Given the description of an element on the screen output the (x, y) to click on. 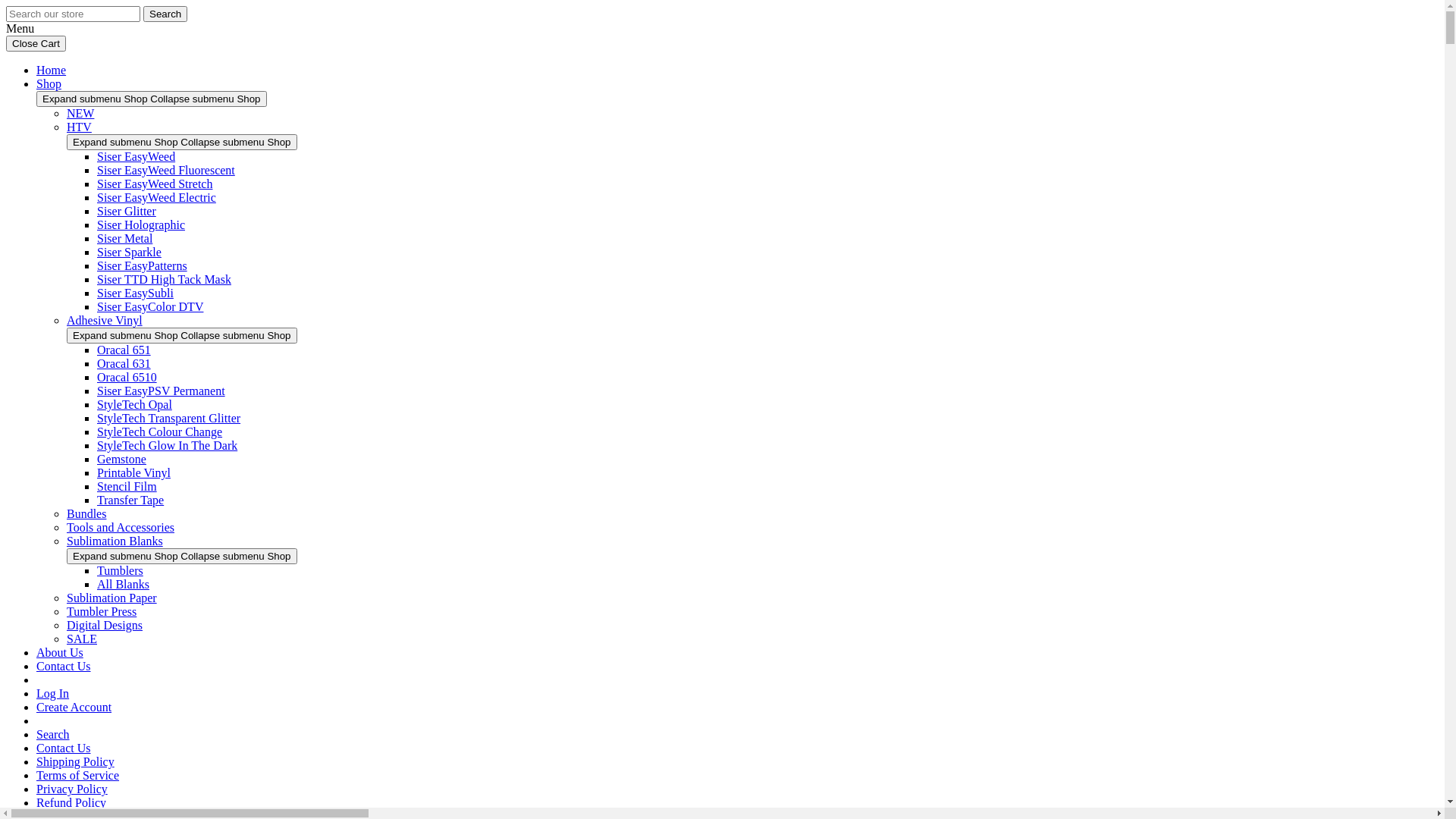
Adhesive Vinyl Element type: text (104, 319)
Log In Element type: text (52, 693)
Expand submenu Shop Collapse submenu Shop Element type: text (181, 556)
Siser EasyPSV Permanent Element type: text (161, 390)
Home Element type: text (50, 69)
Siser EasyWeed Stretch Element type: text (154, 183)
Contact Us Element type: text (63, 665)
Digital Designs Element type: text (104, 624)
Refund Policy Element type: text (71, 802)
StyleTech Colour Change Element type: text (159, 431)
Tumbler Press Element type: text (101, 611)
Tumblers Element type: text (120, 570)
StyleTech Transparent Glitter Element type: text (168, 417)
Tools and Accessories Element type: text (120, 526)
Expand submenu Shop Collapse submenu Shop Element type: text (151, 98)
Expand submenu Shop Collapse submenu Shop Element type: text (181, 335)
Printable Vinyl Element type: text (133, 472)
Siser EasyWeed Element type: text (136, 156)
SALE Element type: text (81, 638)
Siser EasyWeed Electric Element type: text (156, 197)
Siser TTD High Tack Mask Element type: text (164, 279)
Siser EasySubli Element type: text (135, 292)
Transfer Tape Element type: text (130, 499)
Create Account Element type: text (73, 706)
HTV Element type: text (78, 126)
Expand submenu Shop Collapse submenu Shop Element type: text (181, 142)
Siser EasyWeed Fluorescent Element type: text (166, 169)
Shipping Policy Element type: text (75, 761)
Oracal 6510 Element type: text (126, 376)
About Us Element type: text (59, 652)
Siser Sparkle Element type: text (129, 251)
Gemstone Element type: text (121, 458)
Siser Metal Element type: text (124, 238)
Bundles Element type: text (86, 513)
StyleTech Glow In The Dark Element type: text (167, 445)
Stencil Film Element type: text (126, 486)
Contact Us Element type: text (63, 747)
Siser Holographic Element type: text (141, 224)
Terms of Service Element type: text (77, 774)
Sublimation Blanks Element type: text (114, 540)
Siser Glitter Element type: text (126, 210)
Privacy Policy Element type: text (71, 788)
StyleTech Opal Element type: text (134, 404)
All Blanks Element type: text (123, 583)
Close Cart Element type: text (35, 43)
Search Element type: text (165, 13)
NEW Element type: text (80, 112)
Siser EasyPatterns Element type: text (142, 265)
Siser EasyColor DTV Element type: text (150, 306)
Shop Element type: text (48, 83)
Oracal 651 Element type: text (123, 349)
Sublimation Paper Element type: text (111, 597)
Oracal 631 Element type: text (123, 363)
Search Element type: text (52, 734)
